Given the description of an element on the screen output the (x, y) to click on. 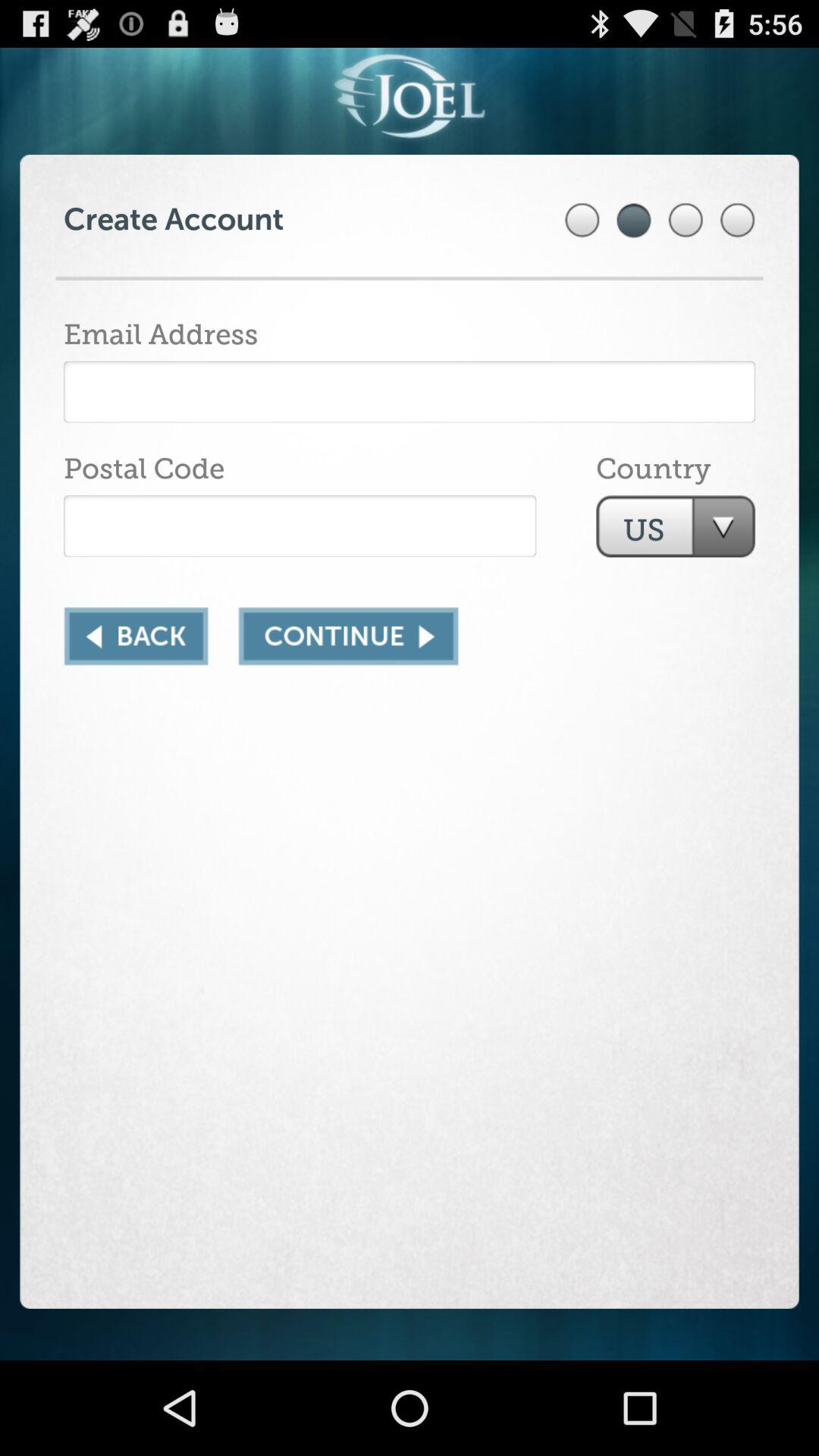
go to next page (348, 636)
